Given the description of an element on the screen output the (x, y) to click on. 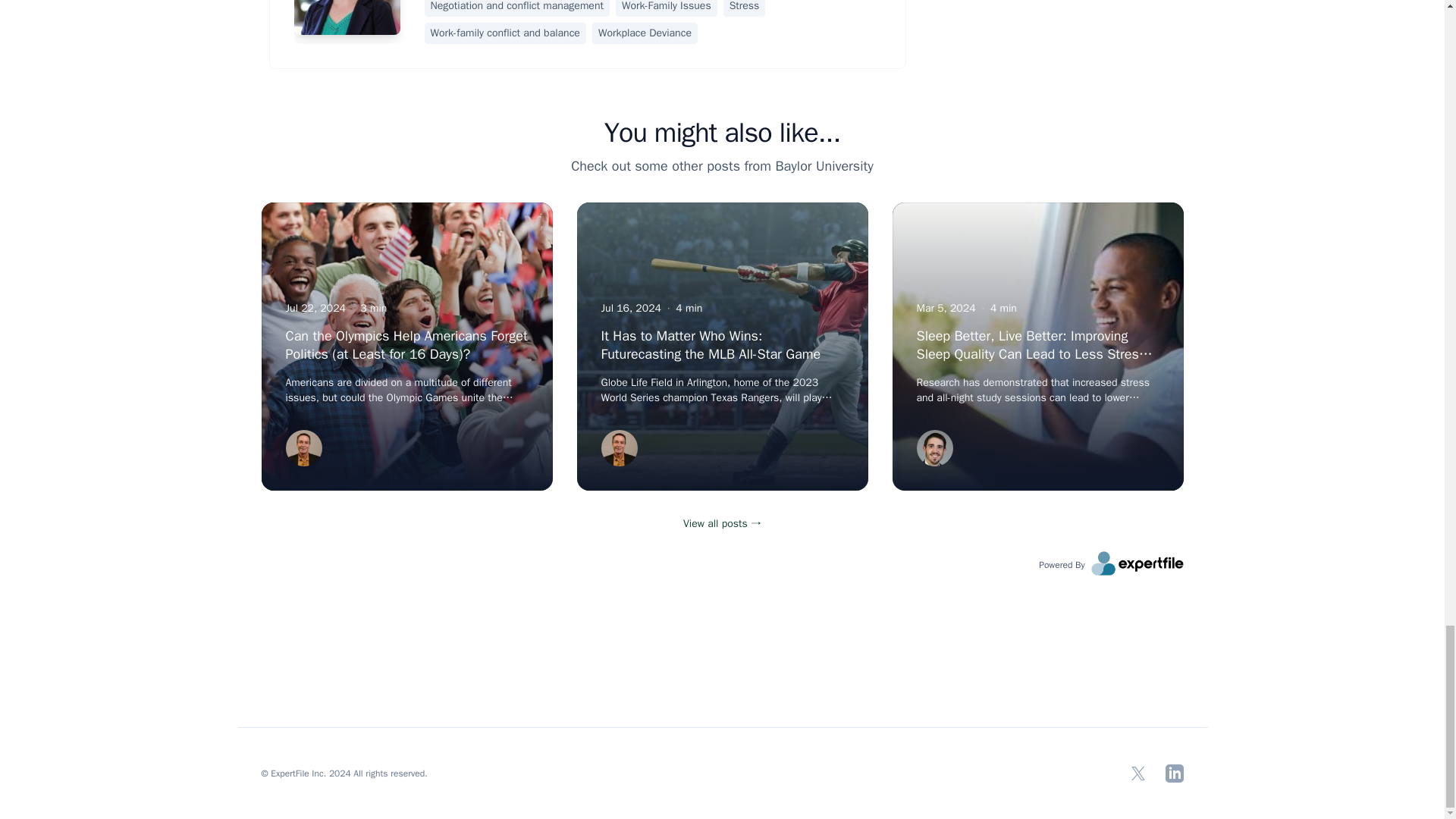
LinkedIn (1173, 773)
X (1137, 773)
Powered By (1110, 563)
